Given the description of an element on the screen output the (x, y) to click on. 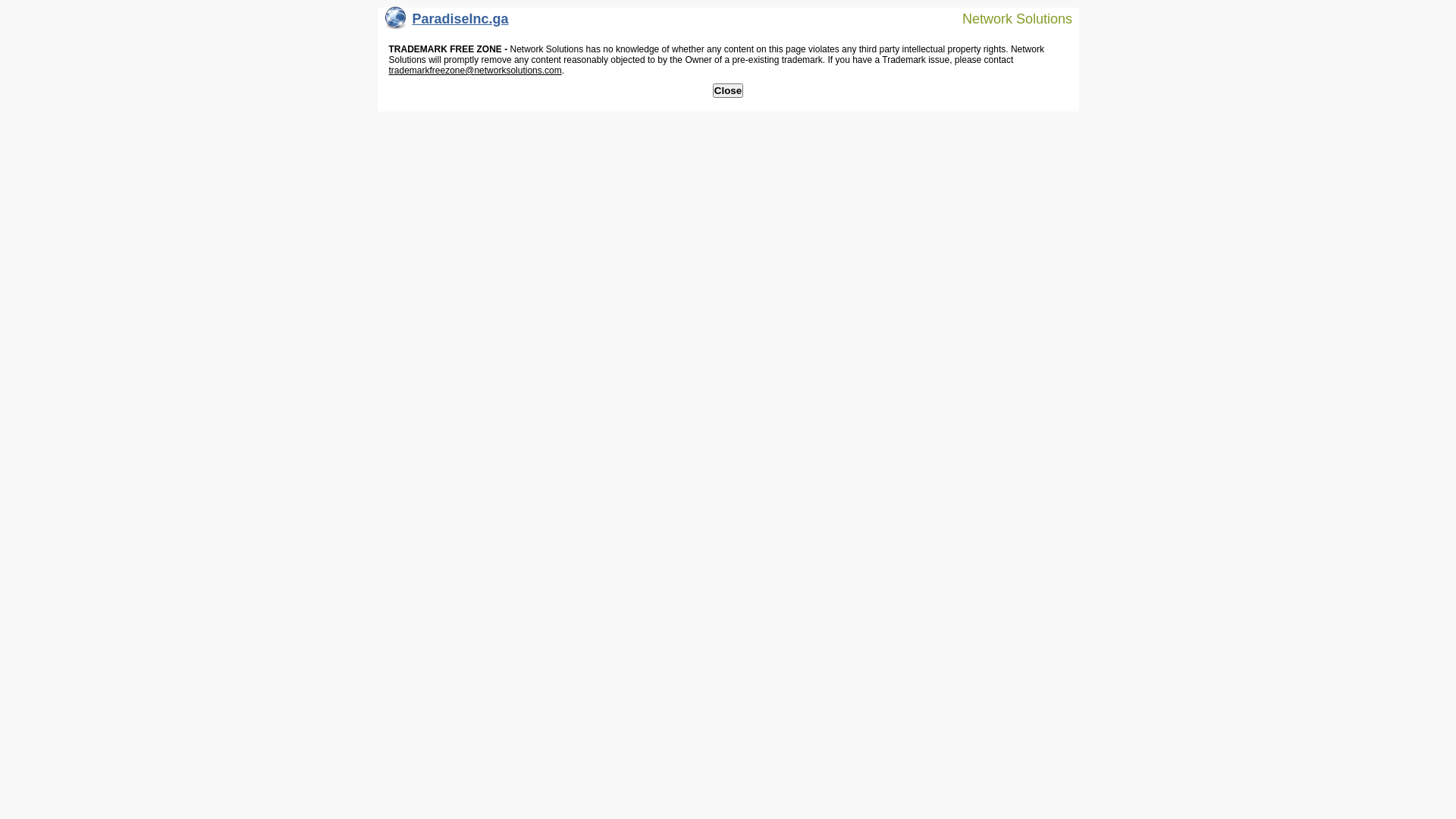
trademarkfreezone@networksolutions.com Element type: text (474, 70)
Close Element type: text (727, 90)
ParadiseInc.ga Element type: text (446, 21)
Network Solutions Element type: text (1007, 17)
